Given the description of an element on the screen output the (x, y) to click on. 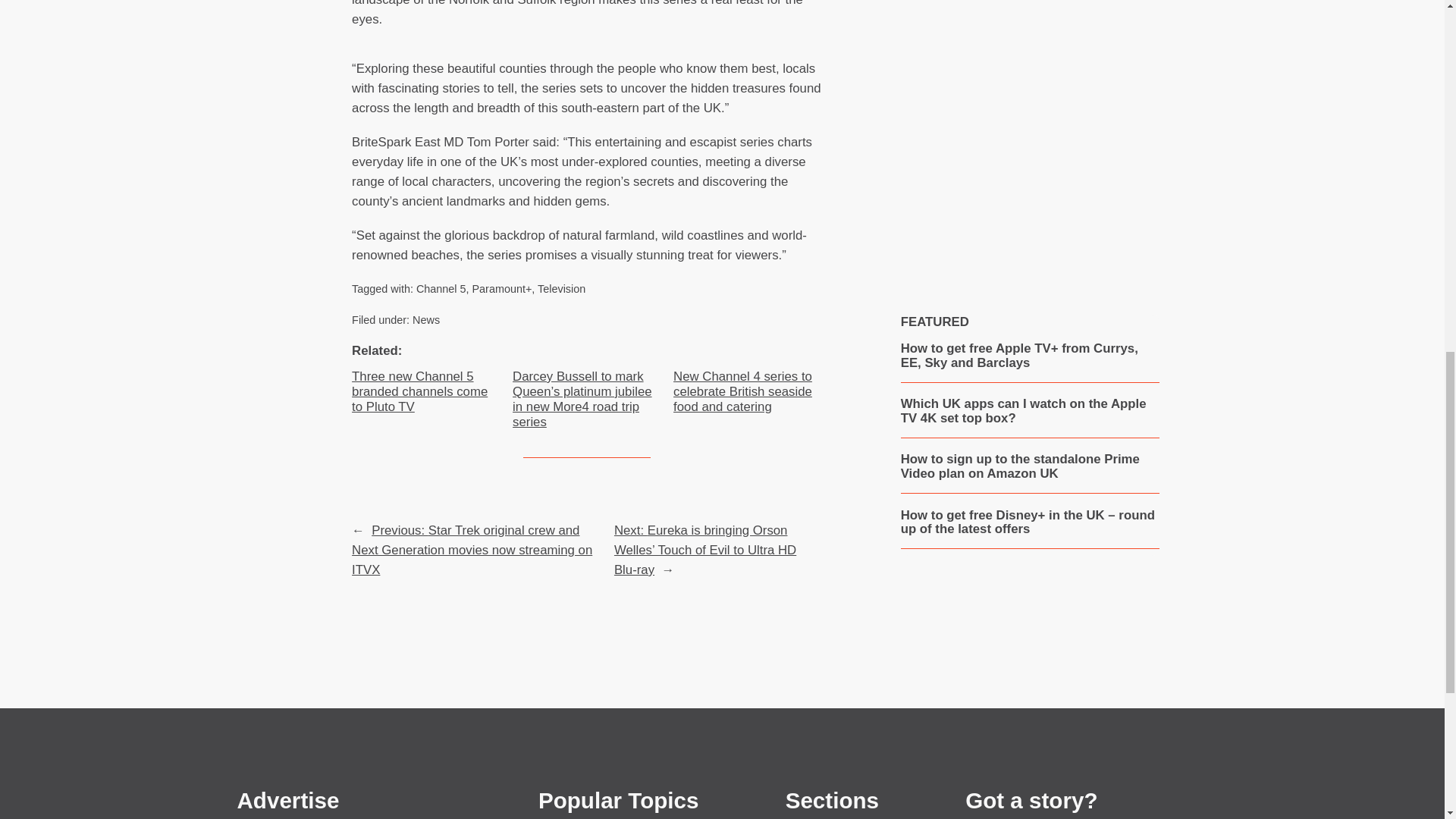
Three new Channel 5 branded channels come to Pluto TV (426, 391)
Television (561, 288)
Channel 5 (440, 288)
News (425, 319)
Which UK apps can I watch on the Apple TV 4K set top box? (1029, 411)
